Given the description of an element on the screen output the (x, y) to click on. 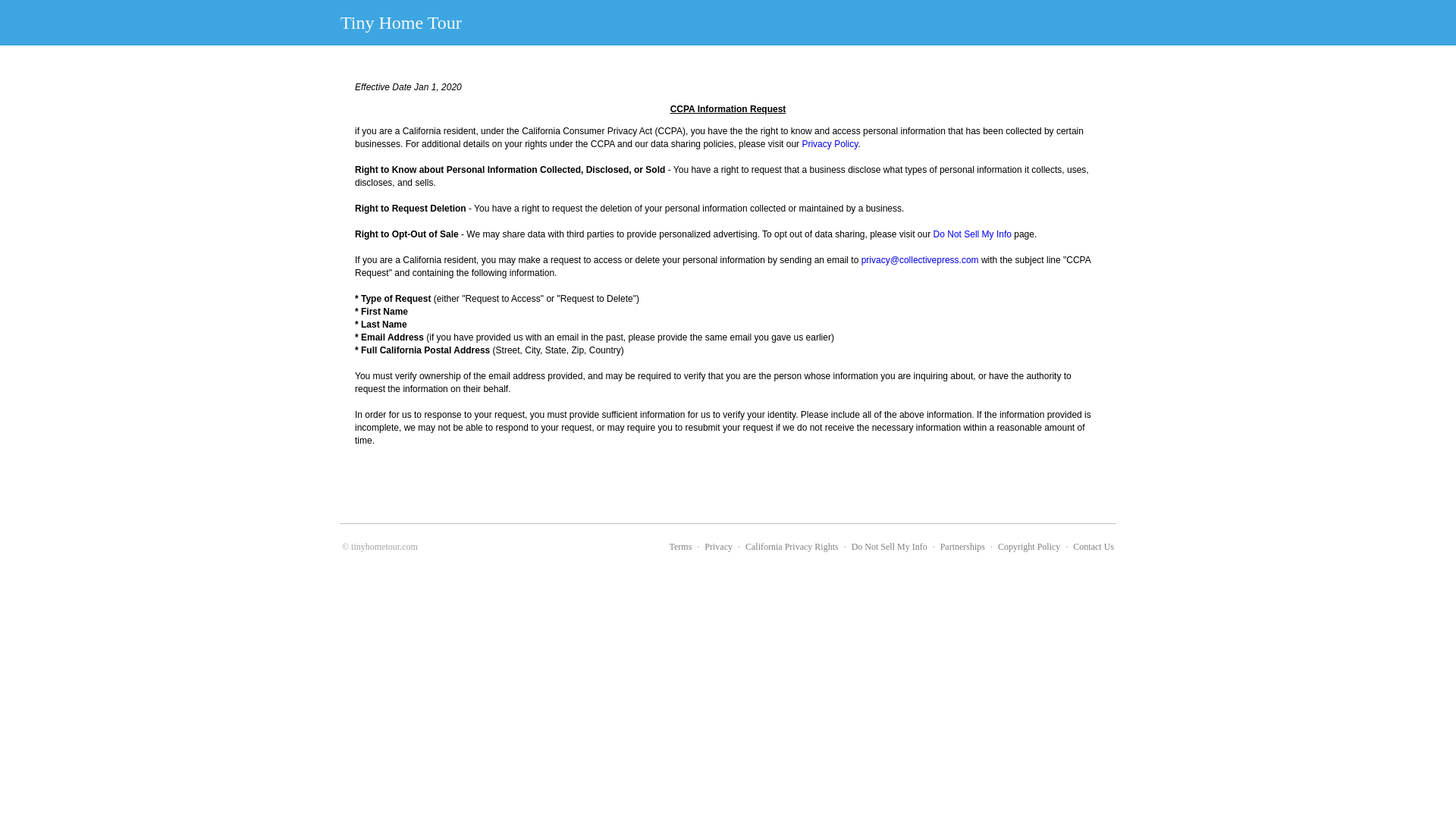
Do Not Sell My Info (889, 546)
Partnerships (962, 546)
Terms (681, 546)
Copyright Policy (1028, 546)
Do Not Sell My Info (972, 234)
Privacy Policy (829, 143)
California Privacy Rights (791, 546)
Tiny Home Tour (400, 21)
Privacy (718, 546)
Contact Us (1093, 546)
